Given the description of an element on the screen output the (x, y) to click on. 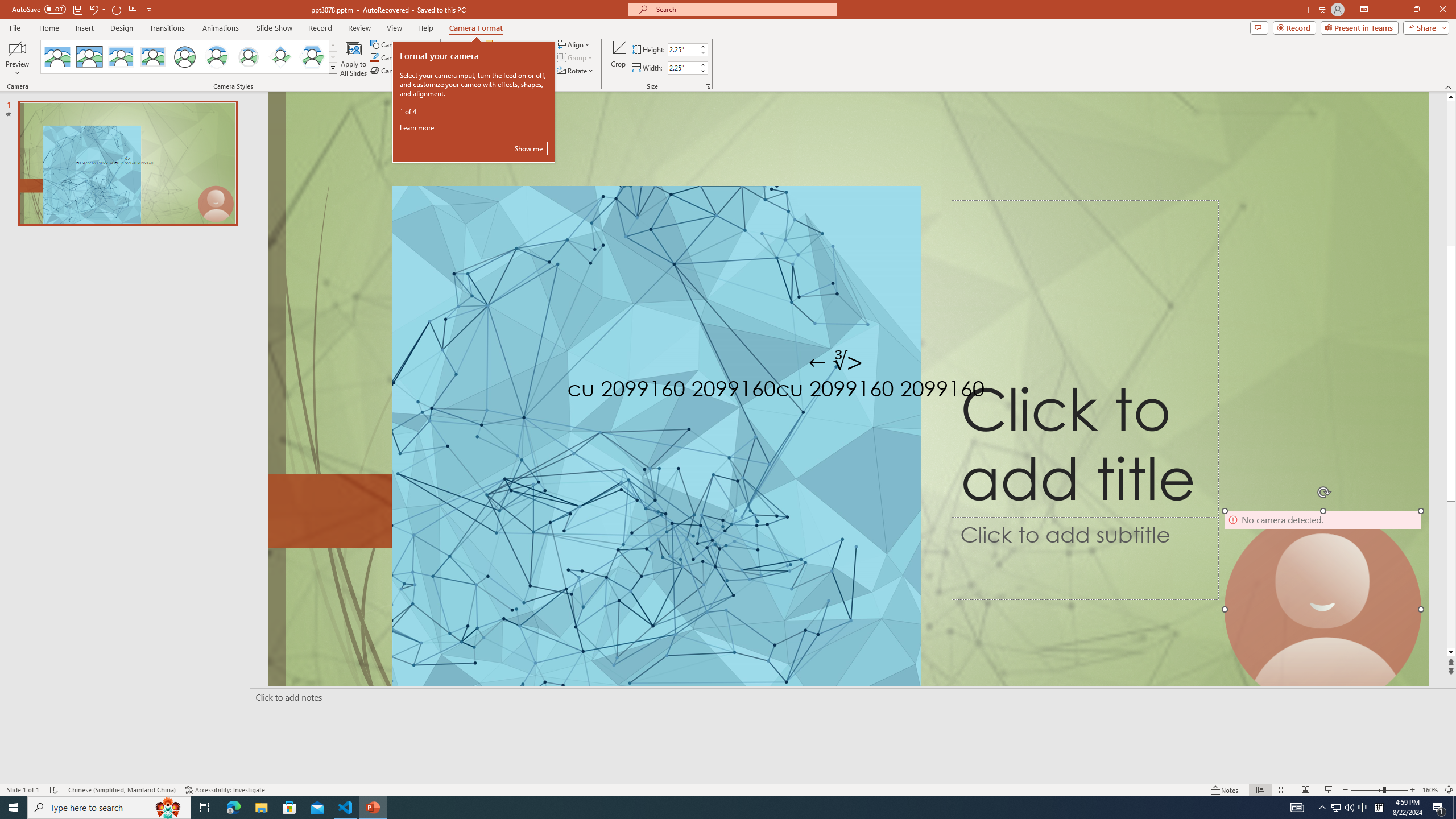
Soft Edge Circle (248, 56)
Send Backward (518, 56)
Simple Frame Rectangle (88, 56)
Enable Camera Preview (17, 48)
Rotate (575, 69)
Center Shadow Circle (216, 56)
